Given the description of an element on the screen output the (x, y) to click on. 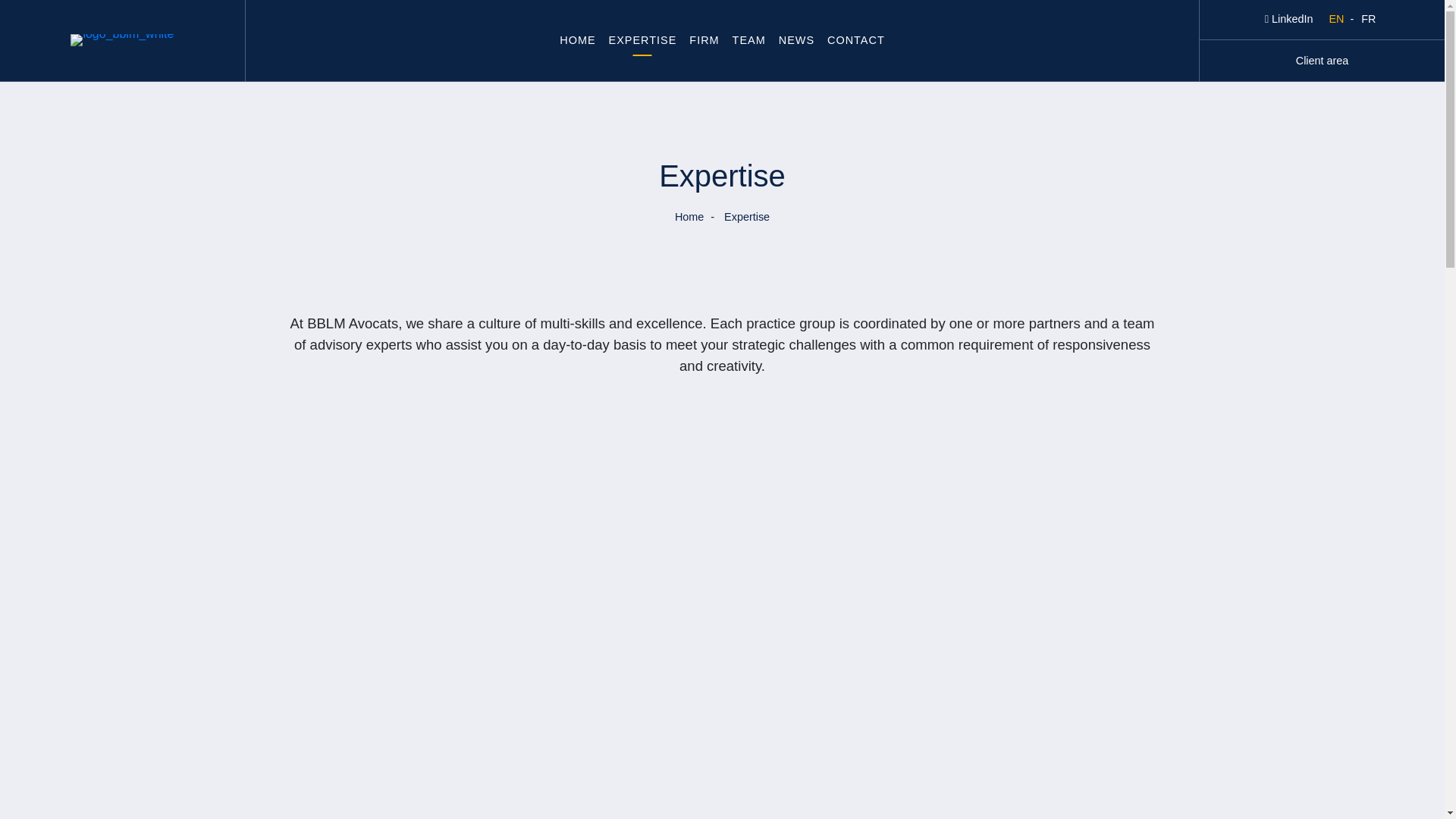
FR (1367, 19)
TEAM (748, 40)
Client area (1322, 60)
EN (1339, 19)
English (1339, 19)
Home (689, 217)
HOME (577, 40)
EXPERTISE (642, 40)
LinkedIn (1289, 19)
FIRM (703, 40)
CONTACT (856, 40)
French (1367, 19)
NEWS (797, 40)
